Given the description of an element on the screen output the (x, y) to click on. 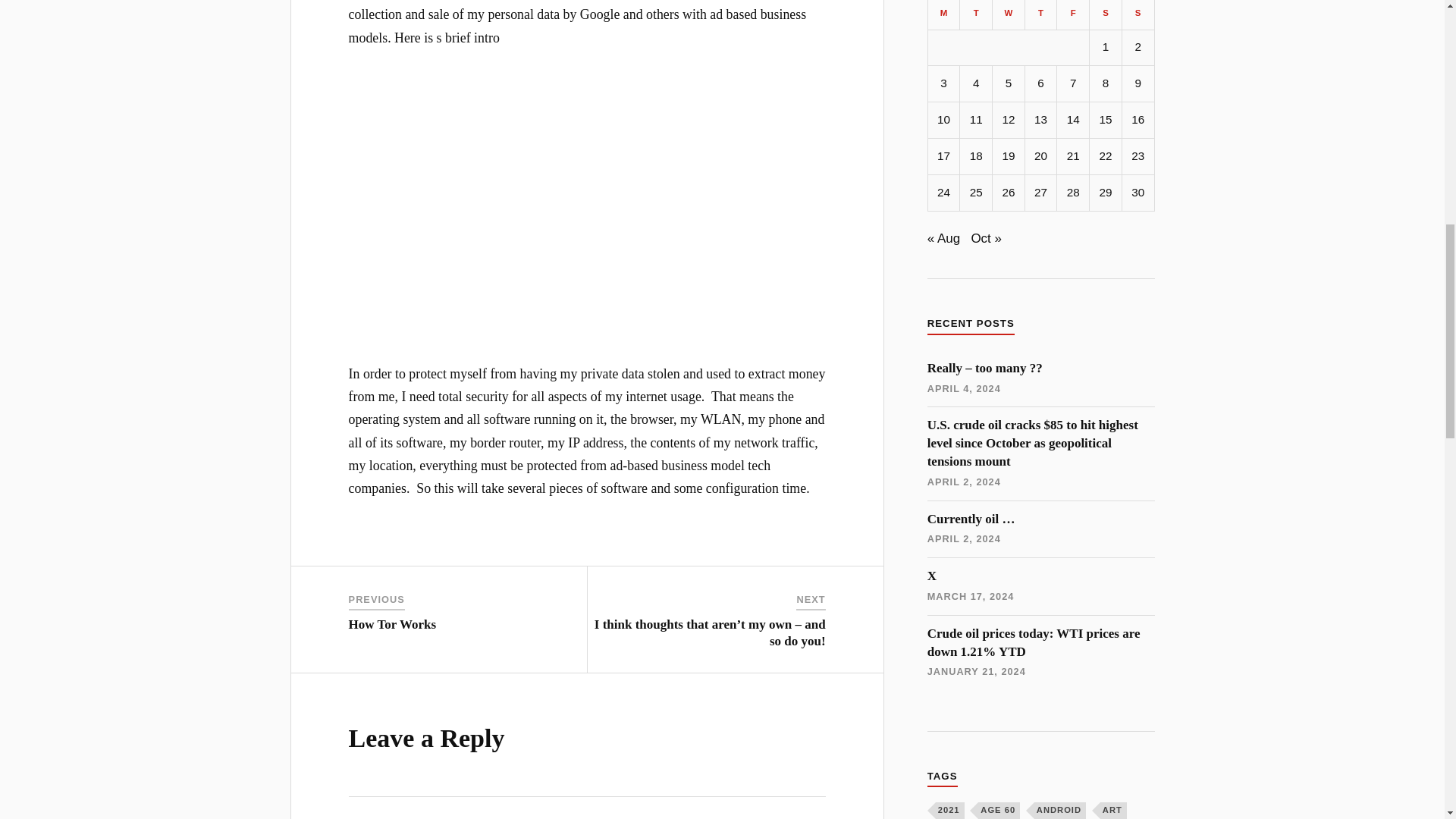
Friday (1073, 14)
10 (943, 119)
25 (975, 192)
Sunday (1137, 14)
26 (1007, 192)
Tuesday (975, 14)
Thursday (1041, 14)
Wednesday (1008, 14)
Monday (468, 611)
How Tor Browser Protects Your Privacy and Identity Online (943, 14)
20 (586, 206)
13 (1039, 155)
Saturday (1039, 119)
